Given the description of an element on the screen output the (x, y) to click on. 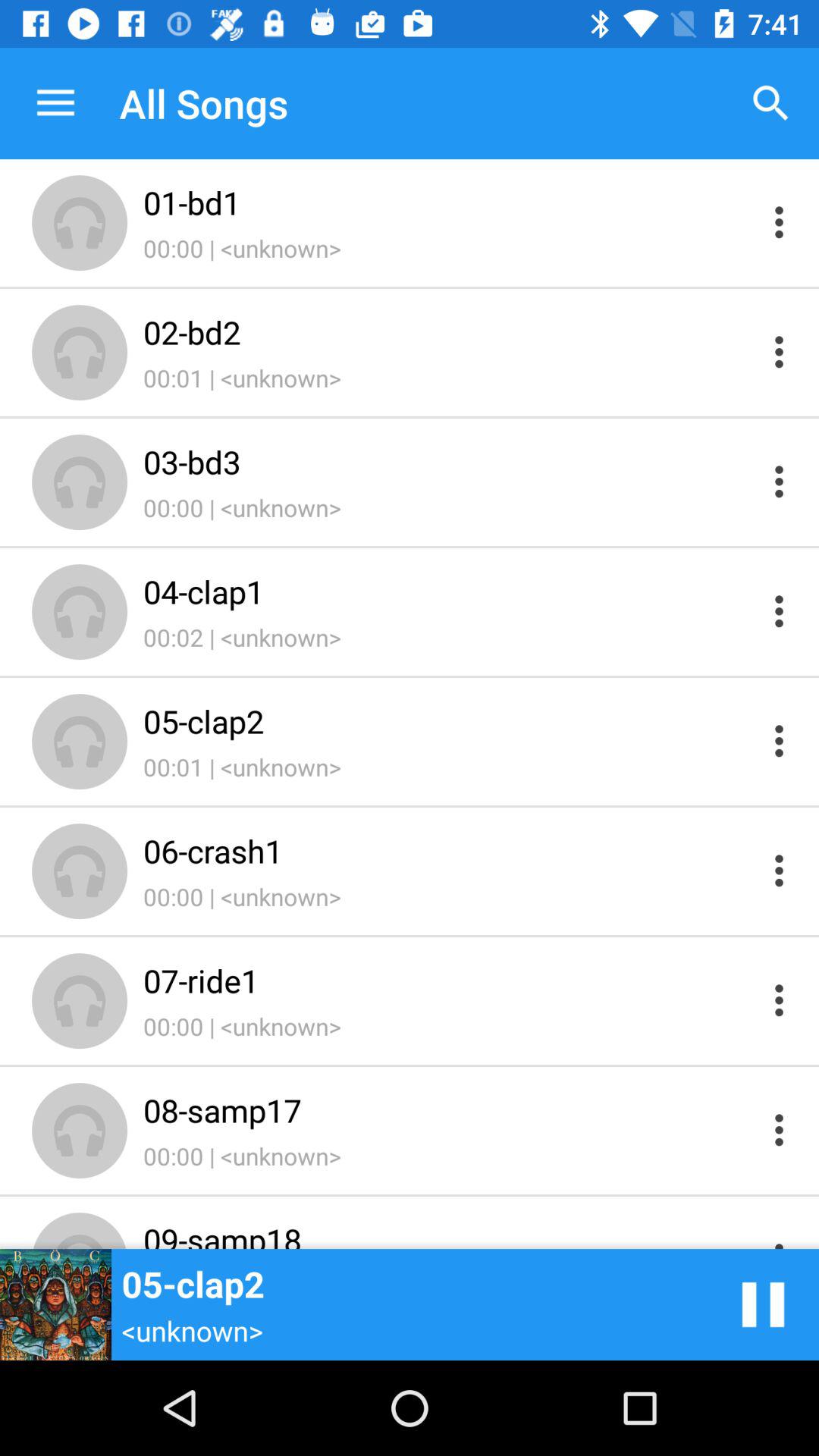
flip until 09-samp18 (449, 1233)
